Given the description of an element on the screen output the (x, y) to click on. 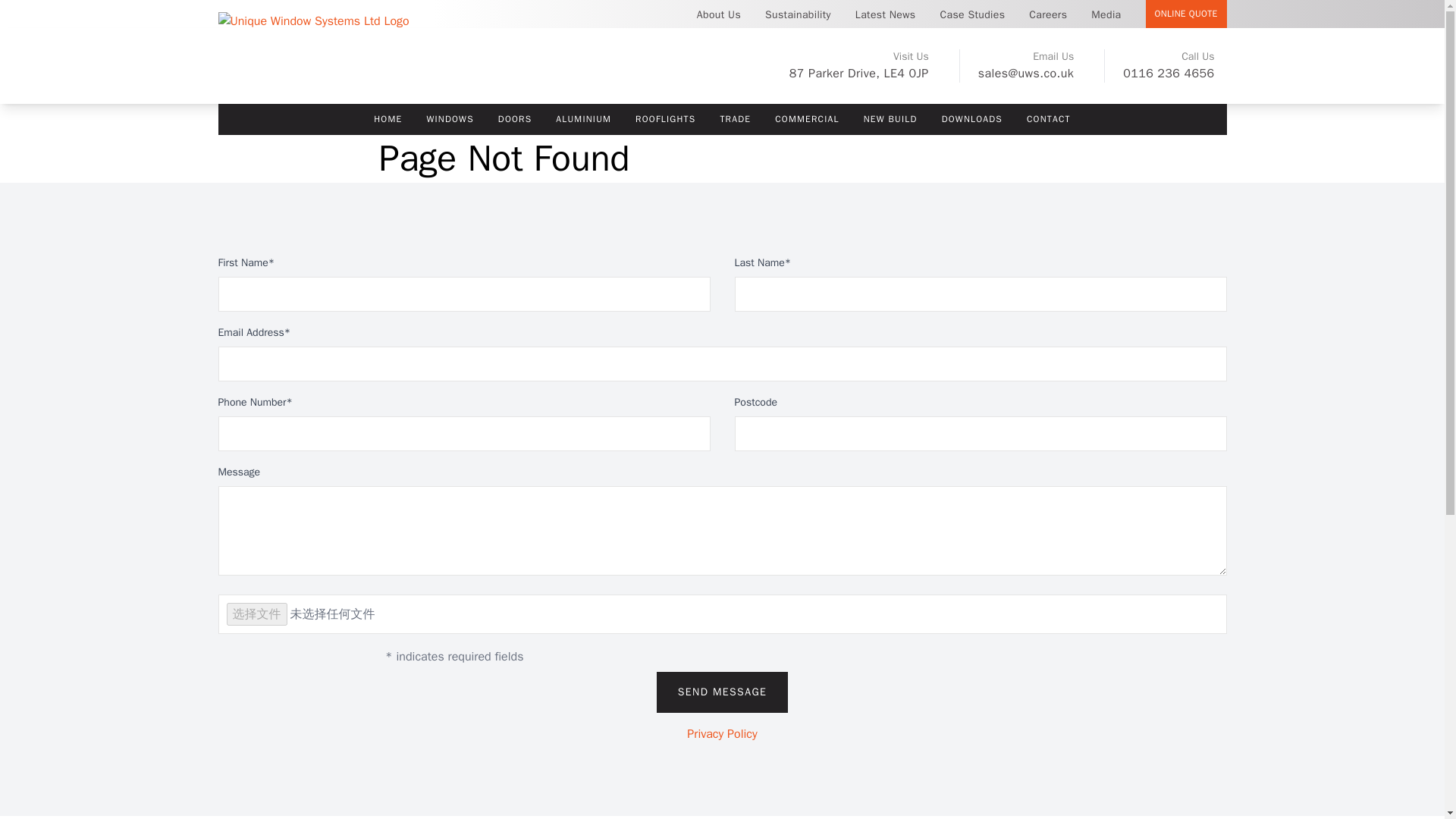
About Us (718, 22)
Careers (1047, 22)
Case Studies (971, 22)
ONLINE QUOTE (1186, 13)
Sustainability (797, 22)
Send Message (722, 691)
Latest News (885, 22)
Media (1105, 22)
